Given the description of an element on the screen output the (x, y) to click on. 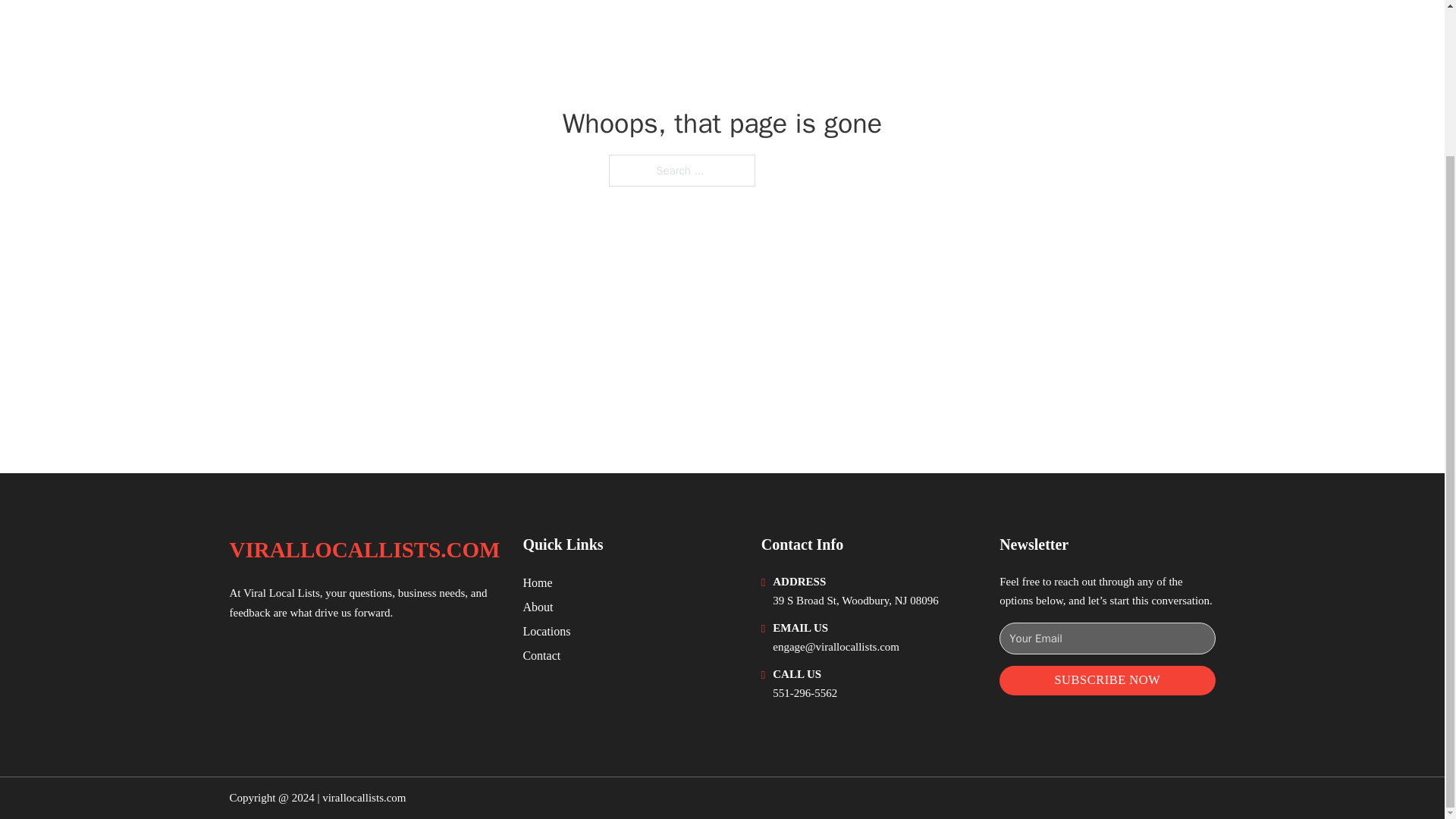
VIRALLOCALLISTS.COM (363, 549)
Home (536, 582)
About (537, 607)
551-296-5562 (805, 693)
Locations (546, 630)
Contact (541, 655)
SUBSCRIBE NOW (1106, 680)
